Given the description of an element on the screen output the (x, y) to click on. 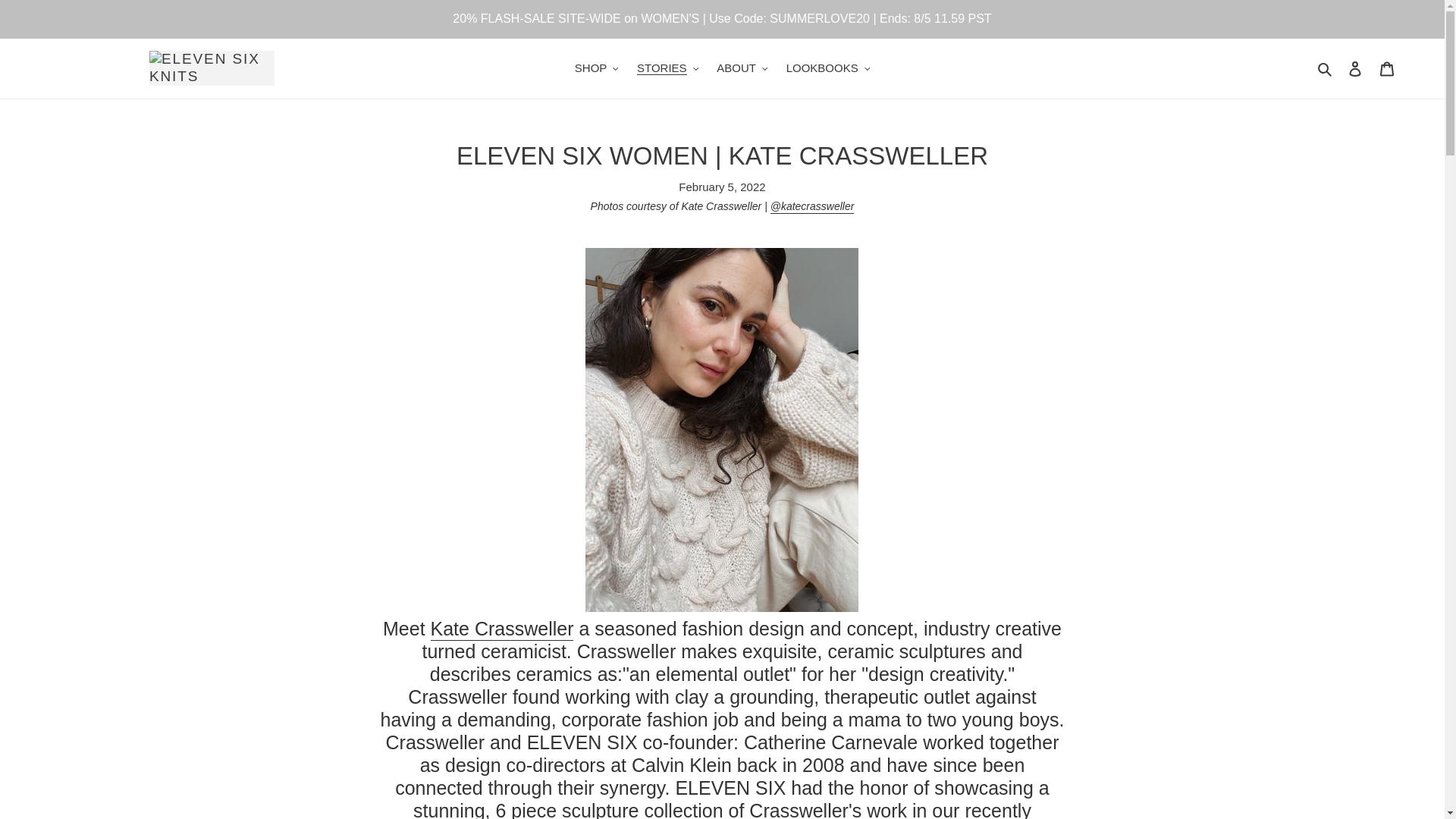
STORIES (667, 68)
SHOP (596, 68)
